Given the description of an element on the screen output the (x, y) to click on. 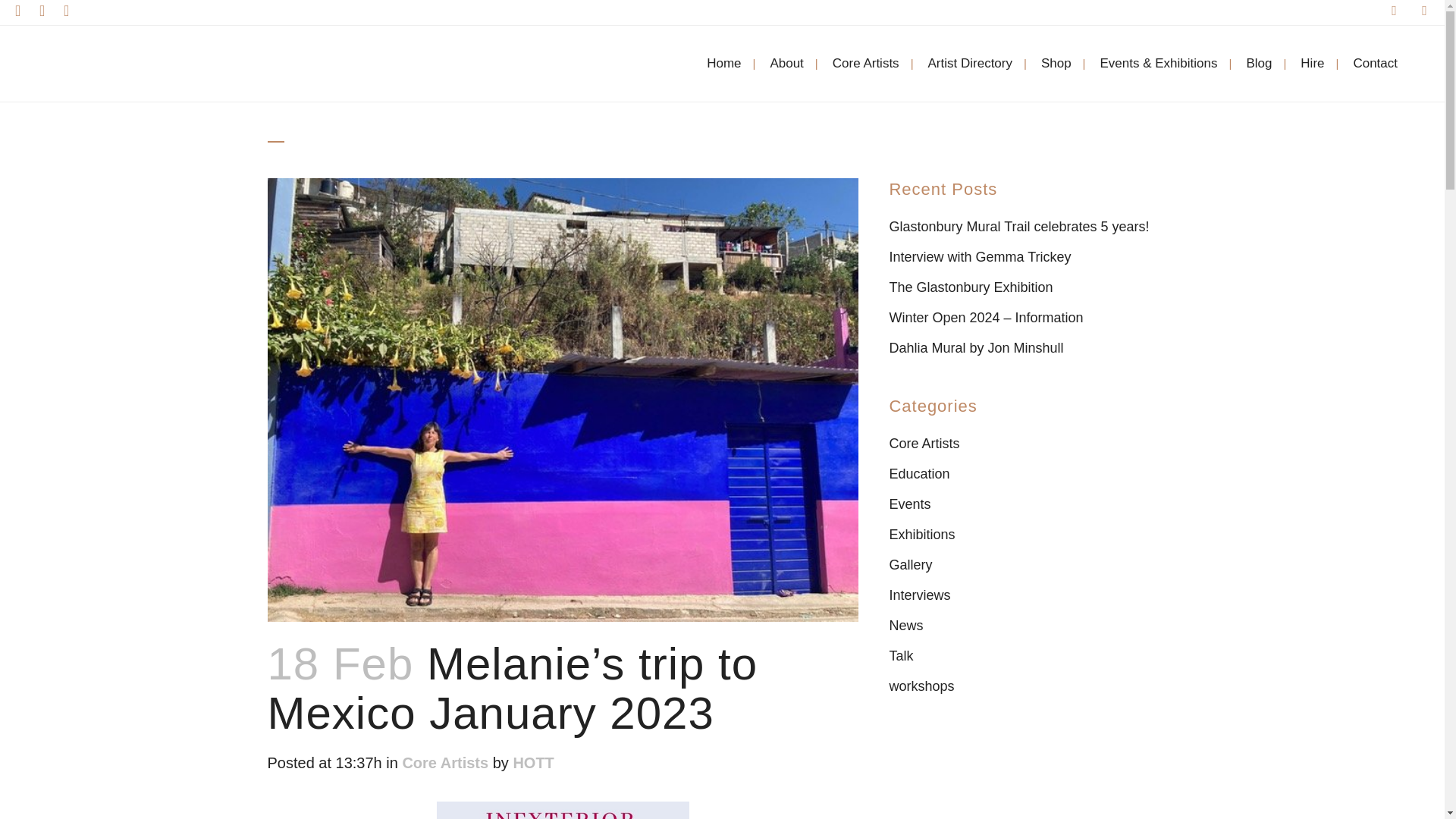
Artist Directory (970, 63)
Core Artists (444, 762)
HOTT (532, 762)
Contact (1374, 63)
Core Artists (865, 63)
